Given the description of an element on the screen output the (x, y) to click on. 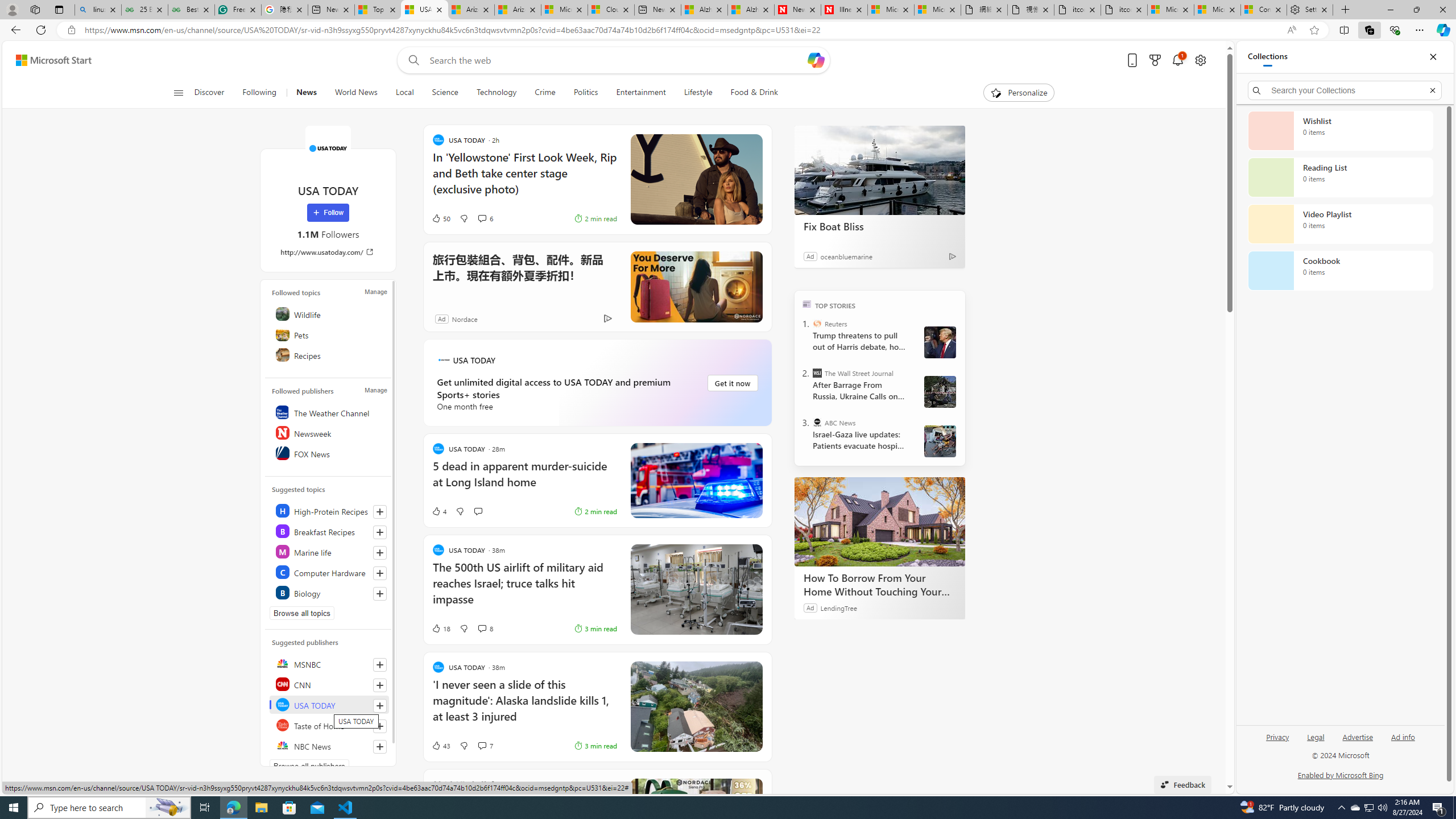
USA TODAY - MSN (424, 9)
Reading List collection, 0 items (1339, 177)
Pets (328, 334)
